Given the description of an element on the screen output the (x, y) to click on. 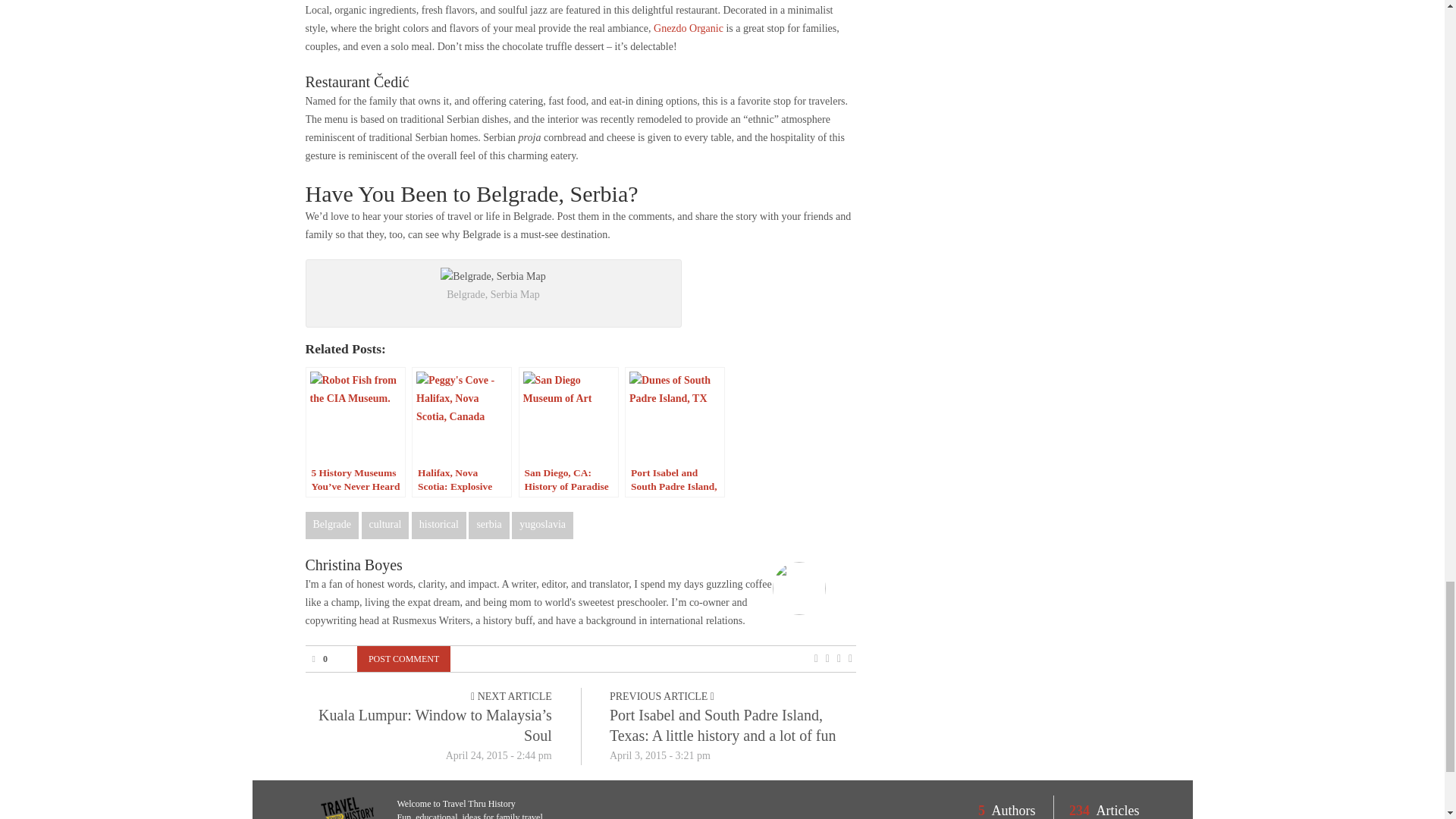
San Diego, CA: History of Paradise (568, 431)
Halifax, Nova Scotia: Explosive History (462, 431)
0 (318, 657)
Gnezdo Organic (688, 28)
POST COMMENT (402, 658)
